Given the description of an element on the screen output the (x, y) to click on. 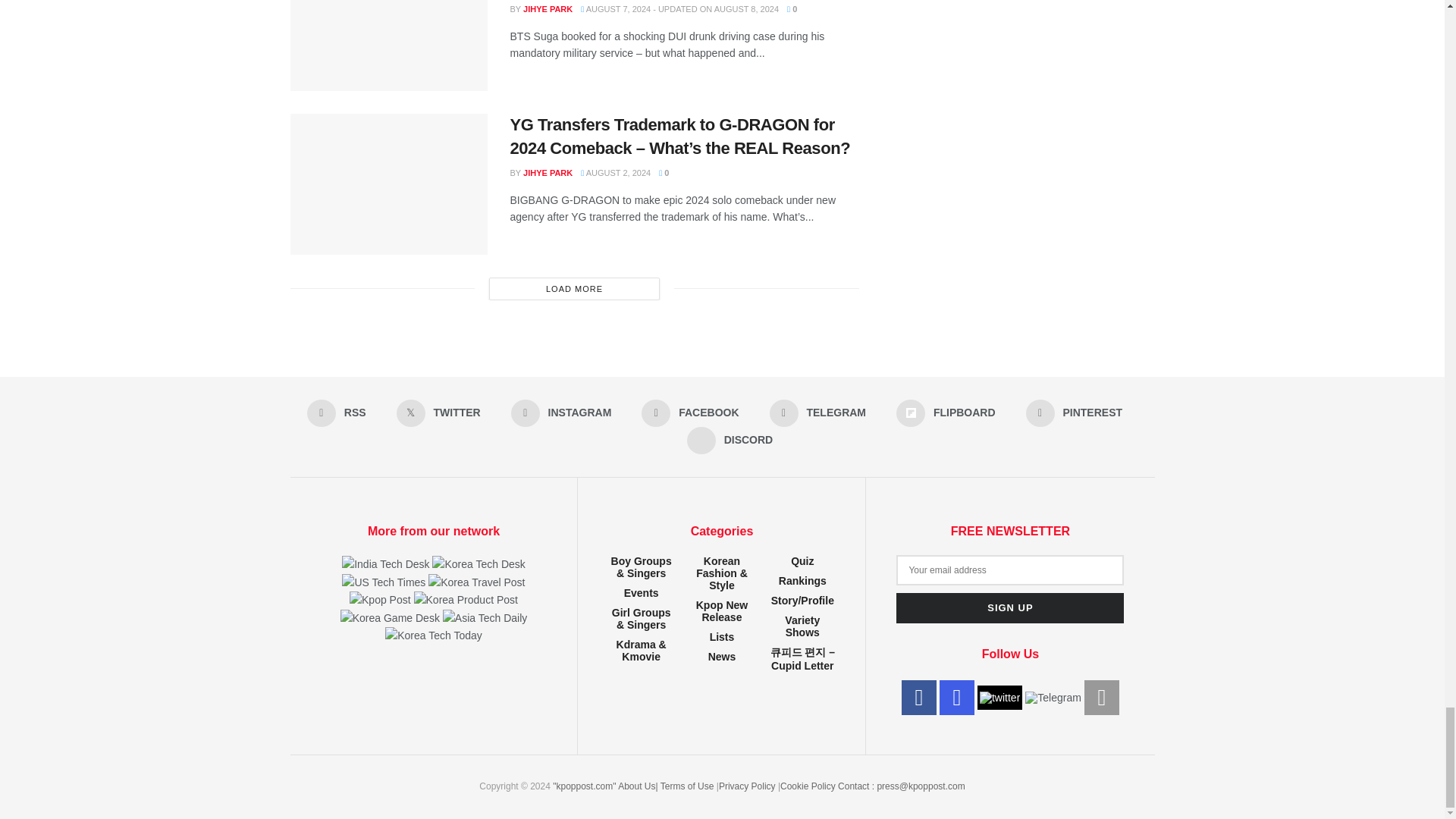
facebook (918, 697)
twitter (999, 695)
Telegram (1053, 695)
twitter (999, 697)
Sign up (1010, 607)
instagram (956, 697)
Telegram (1053, 697)
